Given the description of an element on the screen output the (x, y) to click on. 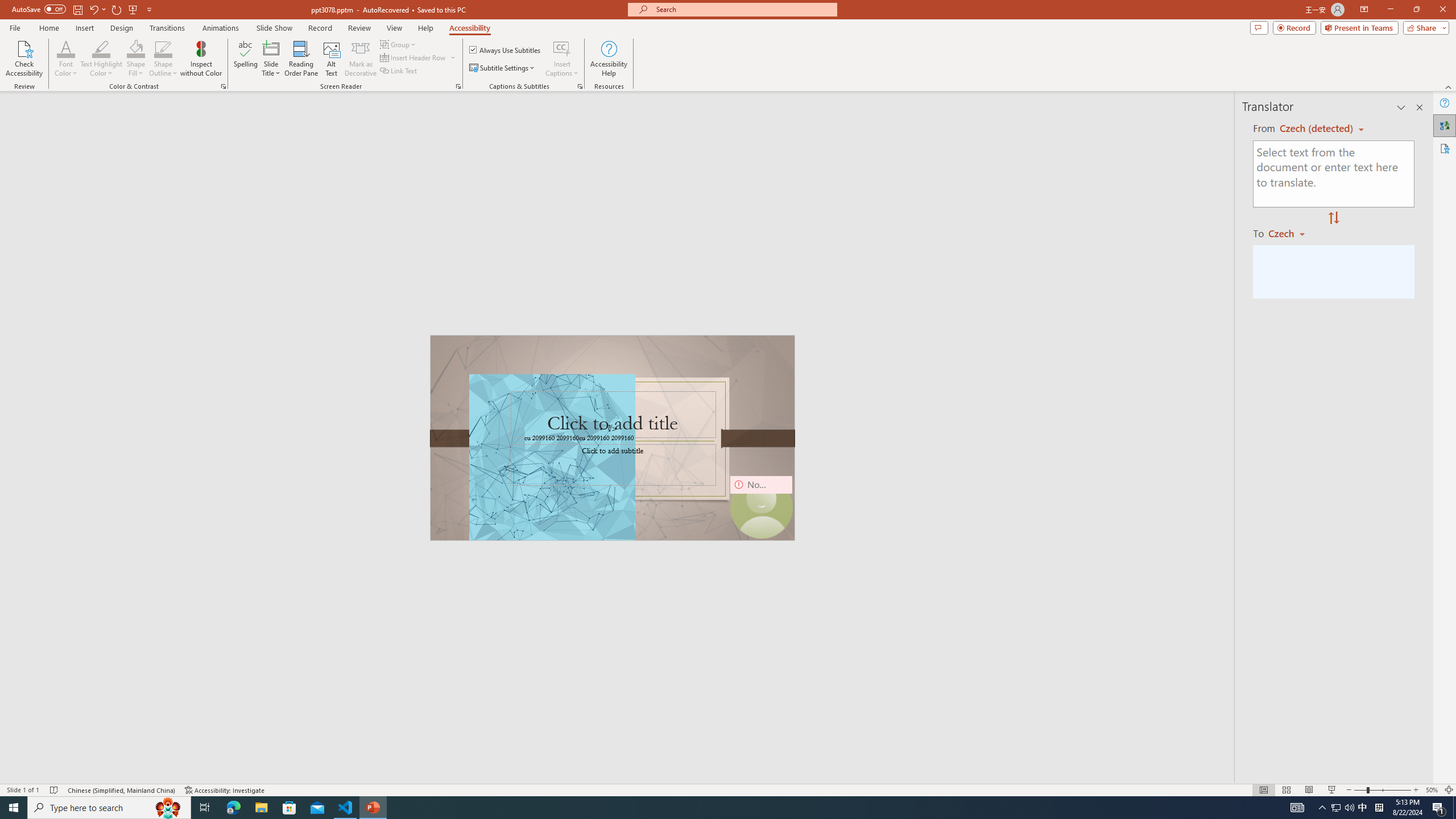
TextBox 61 (611, 438)
Inspect without Color (201, 58)
Subtitle TextBox (613, 464)
Group (398, 44)
